Given the description of an element on the screen output the (x, y) to click on. 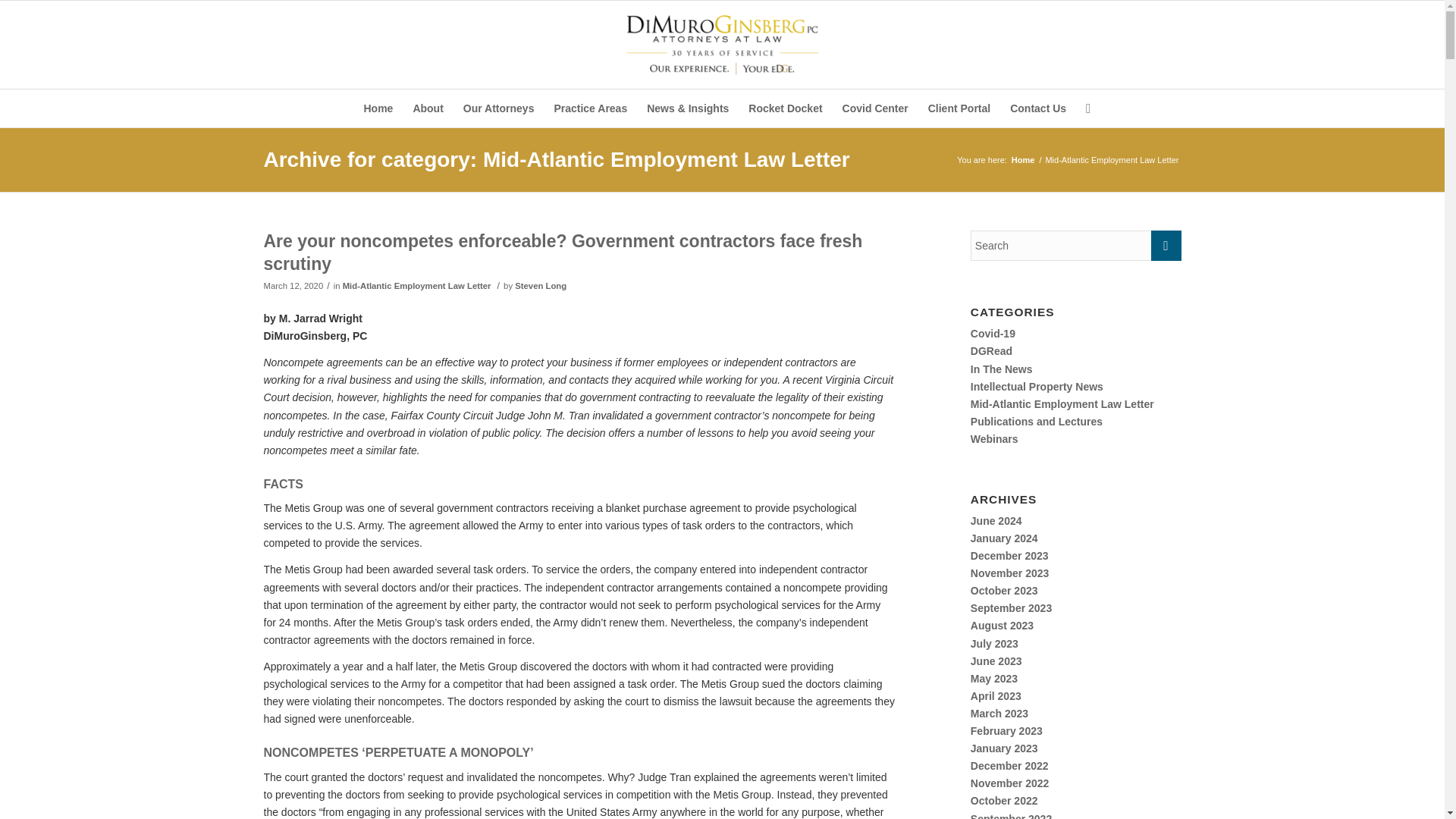
About (427, 108)
Contact Us (1037, 108)
Home (1022, 160)
Rocket Docket (784, 108)
Covid Center (875, 108)
Mid-Atlantic Employment Law Letter (417, 285)
Practice Areas (590, 108)
Archive for category: Mid-Atlantic Employment Law Letter (556, 159)
Client Portal (959, 108)
Posts by Steven Long (540, 285)
Our Attorneys (498, 108)
Home (378, 108)
Steven Long (540, 285)
